Given the description of an element on the screen output the (x, y) to click on. 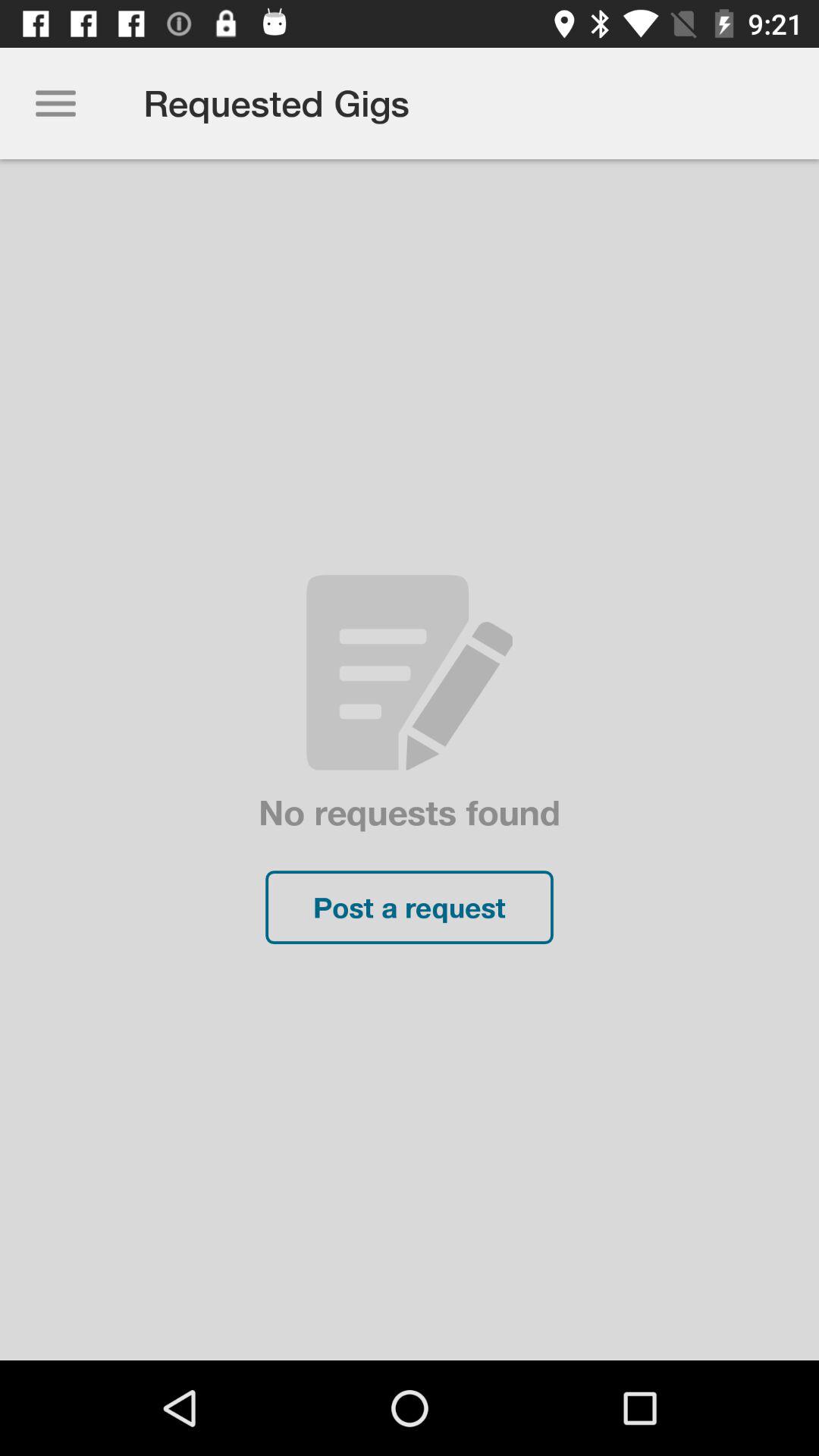
select item at the top left corner (55, 103)
